Given the description of an element on the screen output the (x, y) to click on. 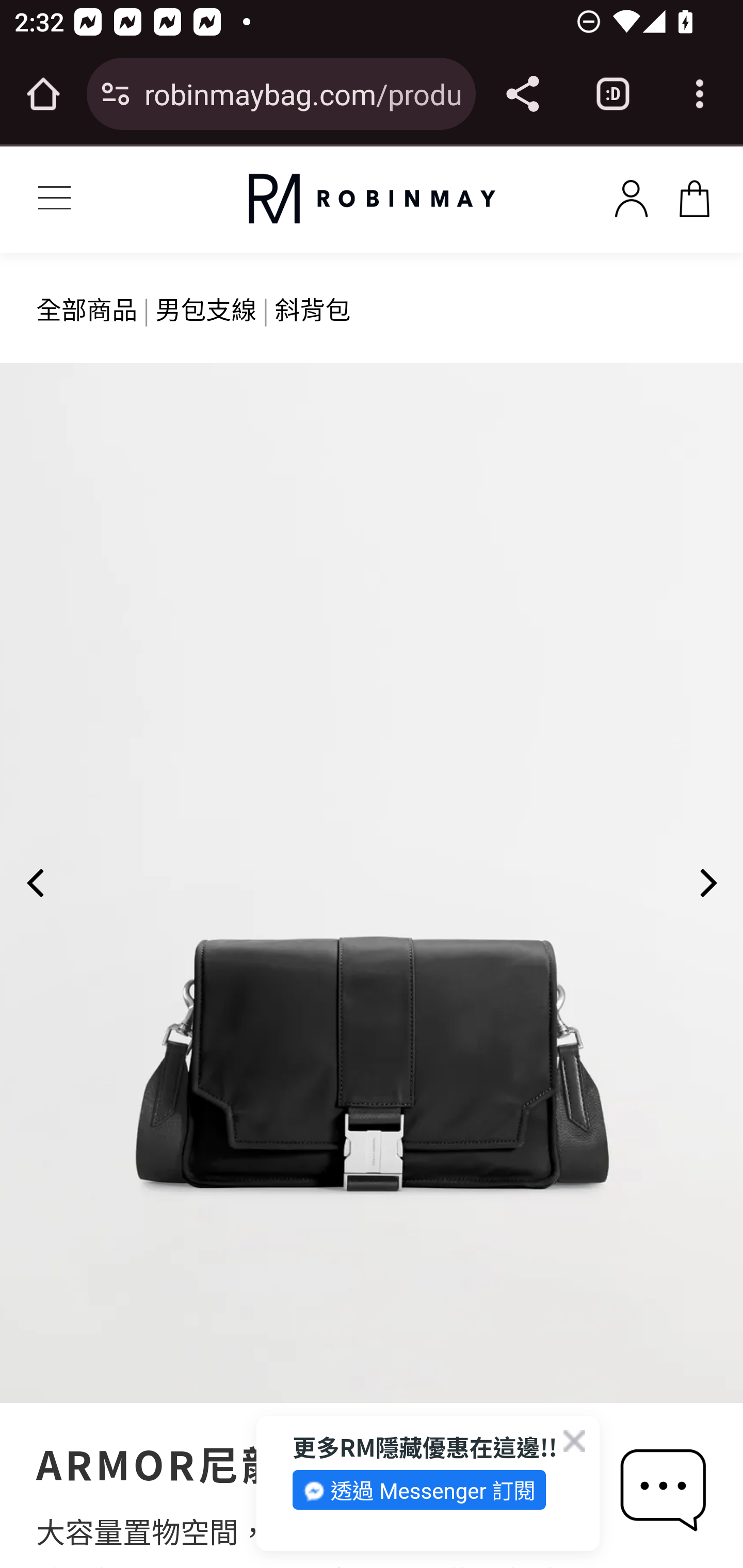
Open the home page (43, 93)
Connection is secure (115, 93)
Share (522, 93)
Switch or close tabs (612, 93)
Customize and control Google Chrome (699, 93)
original (371, 199)
x100 (631, 195)
x100 (694, 195)
全部商品 (87, 308)
男包支線 (206, 308)
斜背包 (313, 308)
